Given the description of an element on the screen output the (x, y) to click on. 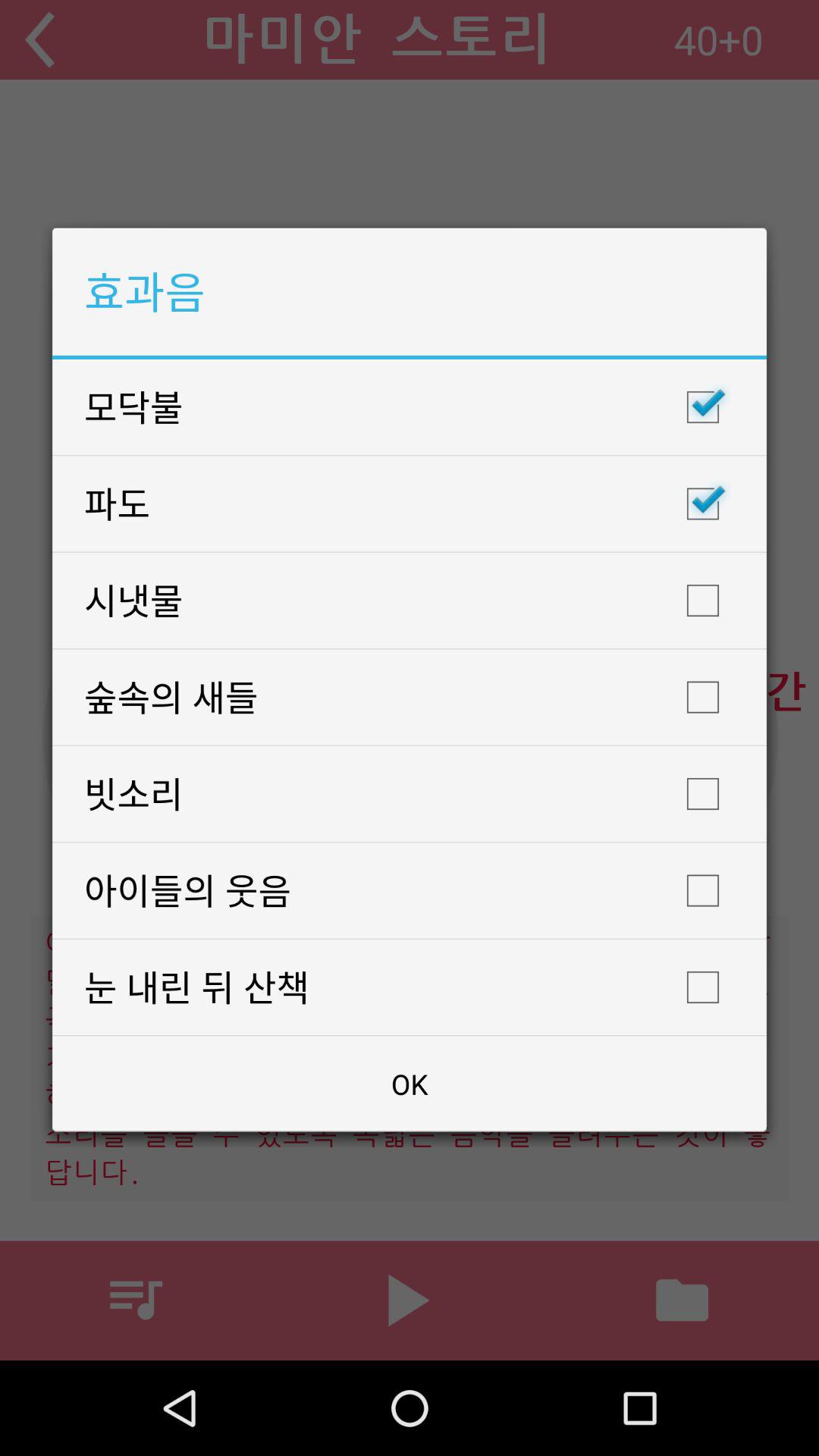
click the ok (409, 1083)
